Given the description of an element on the screen output the (x, y) to click on. 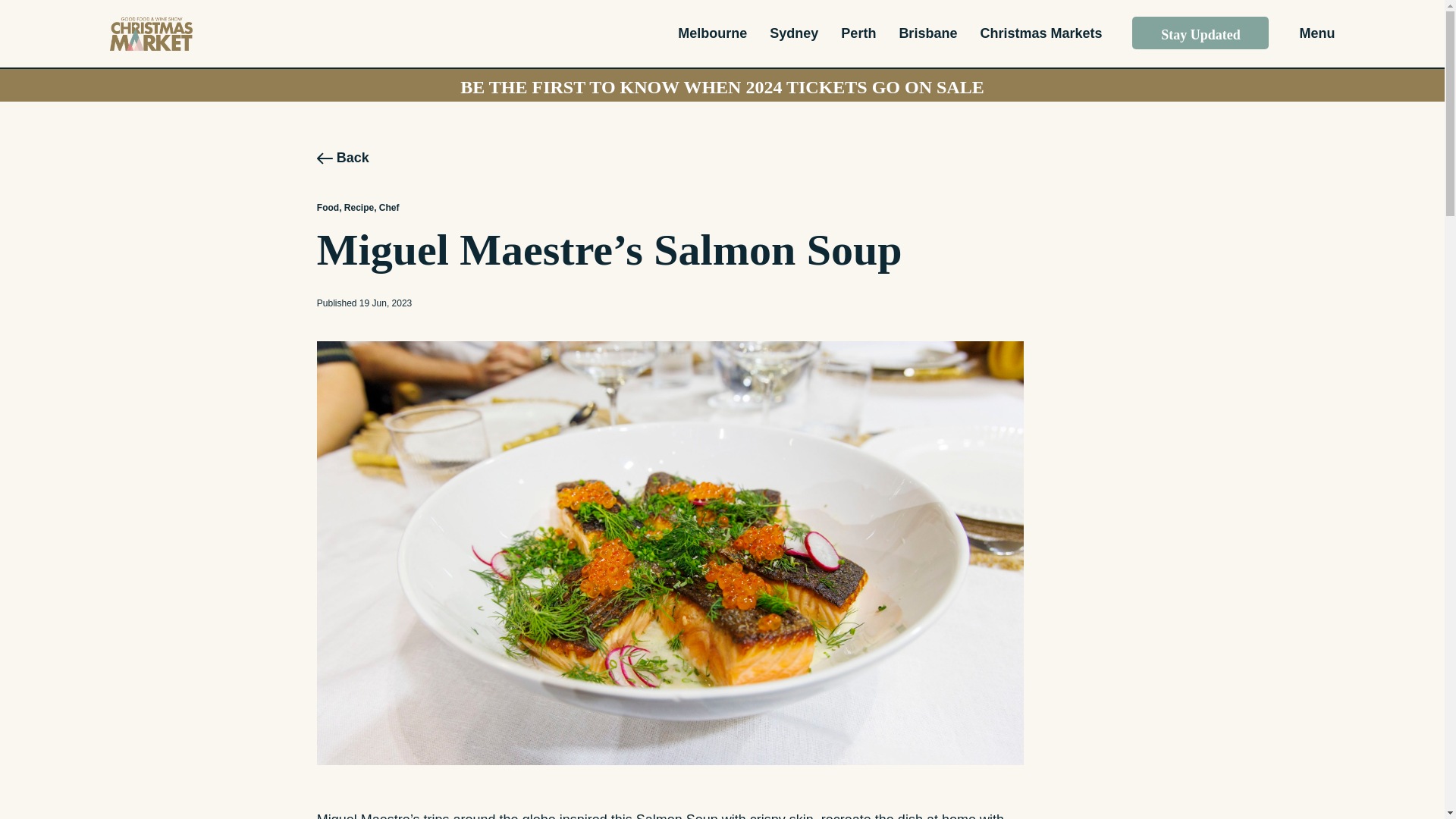
, Chef (386, 207)
Sydney (793, 32)
Menu (1316, 33)
Stay Updated (1200, 32)
, Recipe (356, 207)
Back (343, 157)
Christmas Markets (1040, 32)
Food (328, 207)
Perth (857, 32)
Melbourne (712, 32)
Brisbane (927, 32)
